Given the description of an element on the screen output the (x, y) to click on. 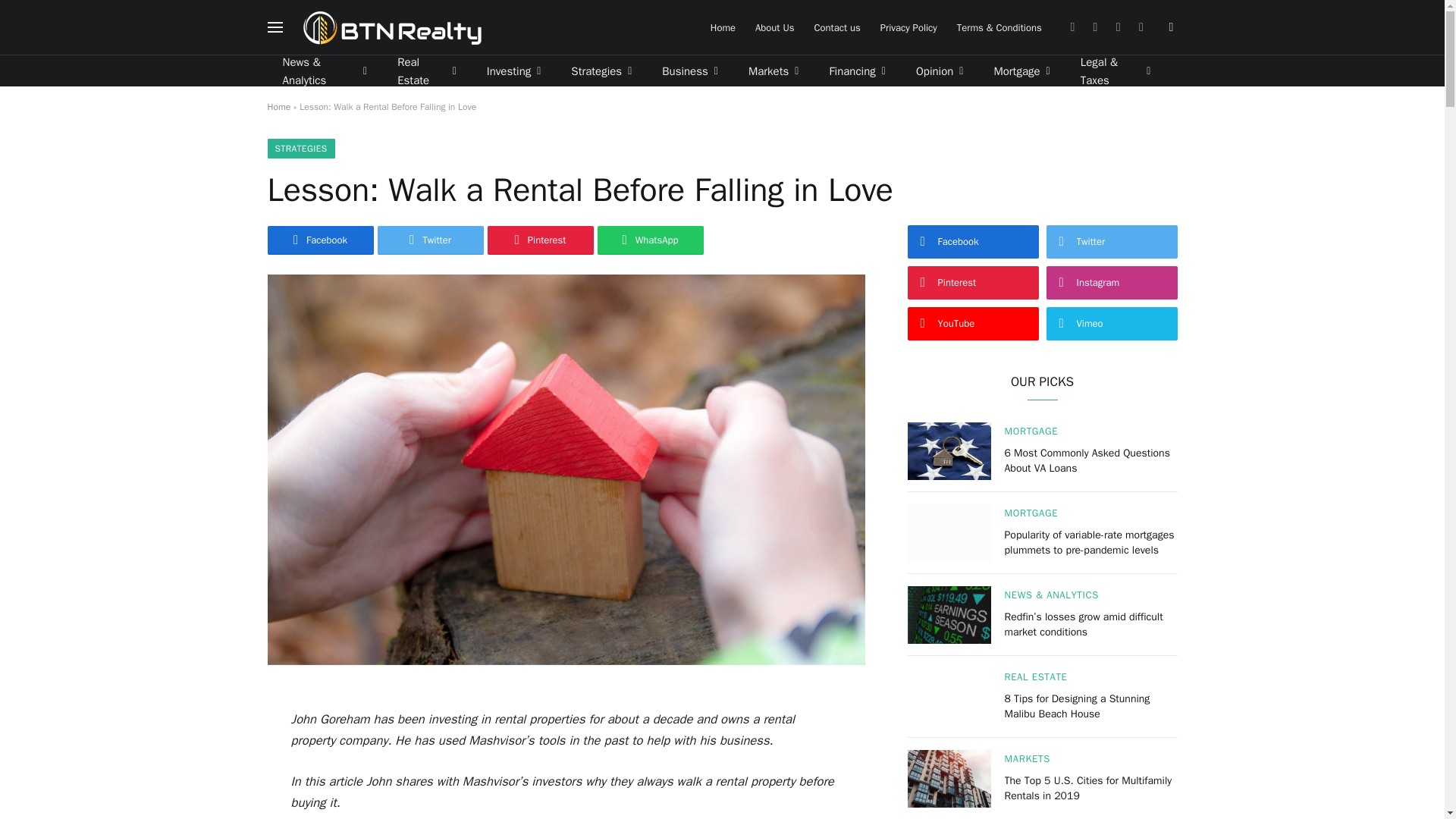
BTN Realty (392, 27)
Privacy Policy (908, 27)
Contact us (836, 27)
About Us (774, 27)
Switch to Dark Design - easier on eyes. (1168, 27)
